Given the description of an element on the screen output the (x, y) to click on. 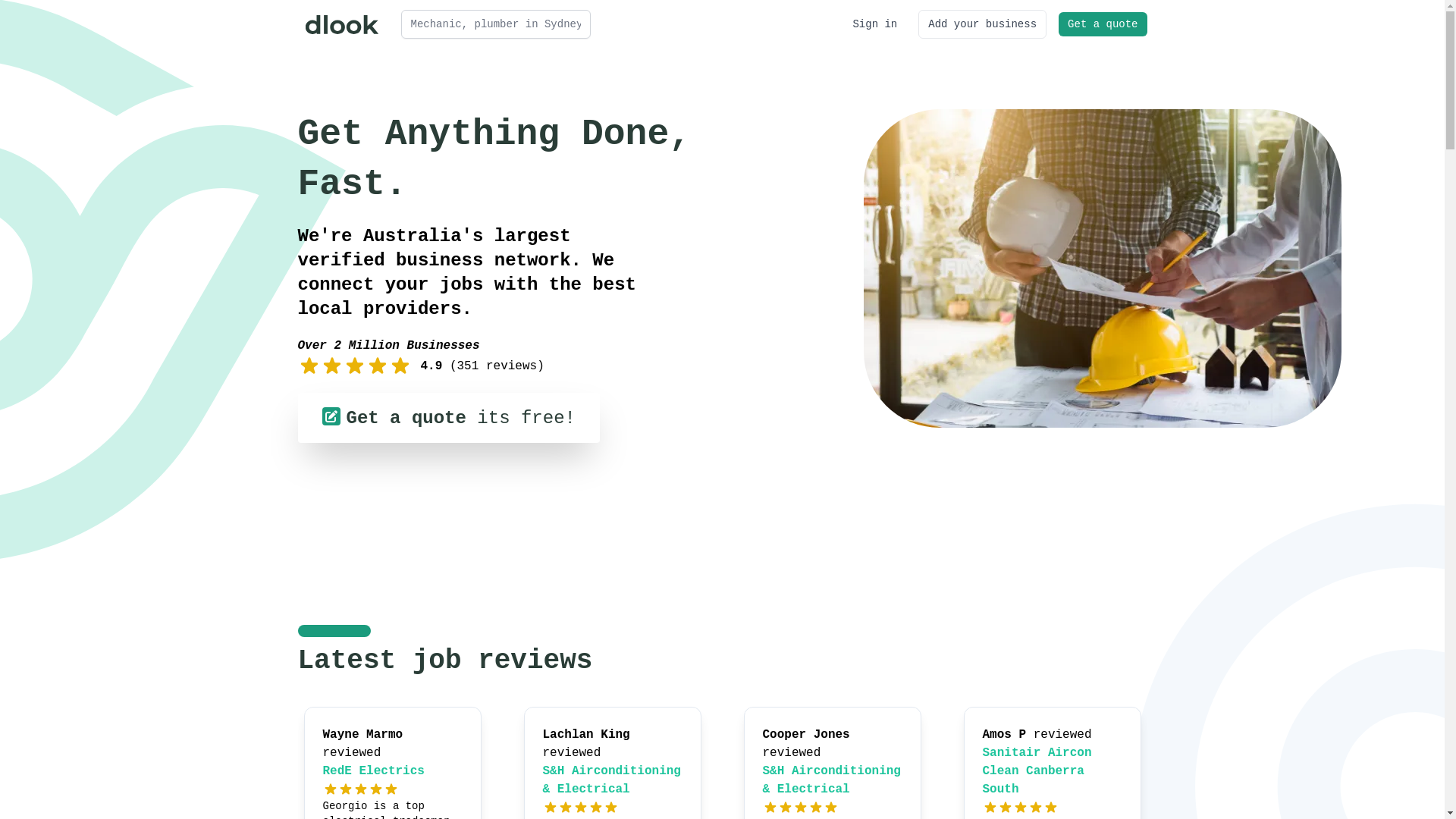
Get a quote its free! Element type: text (448, 417)
Get a quote Element type: text (1102, 24)
Sanitair Aircon Clean Canberra South Element type: text (1037, 771)
RedE Electrics Element type: text (373, 771)
S&H Airconditioning & Electrical Element type: text (611, 780)
Add your business Element type: text (982, 23)
Sign in Element type: text (874, 23)
S&H Airconditioning & Electrical Element type: text (831, 780)
